Given the description of an element on the screen output the (x, y) to click on. 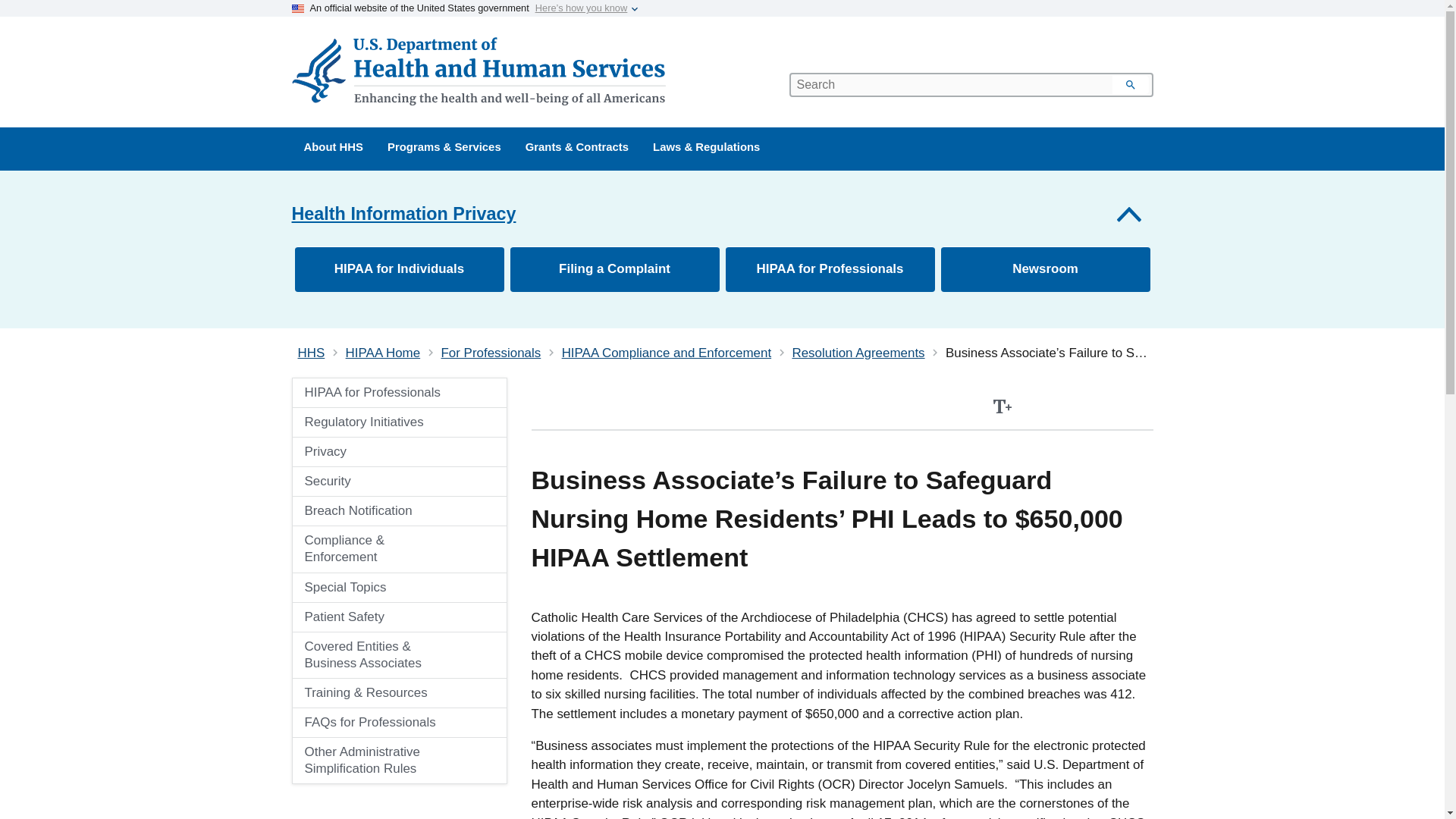
X (1104, 406)
Breach Notification (382, 510)
HIPAA Home (383, 352)
HIPAA for Professionals (399, 392)
Resolution Agreements (858, 352)
Email (1137, 406)
HIPAA for Individuals (398, 268)
HHS (310, 352)
Filing a Complaint (614, 268)
Home (480, 71)
